Given the description of an element on the screen output the (x, y) to click on. 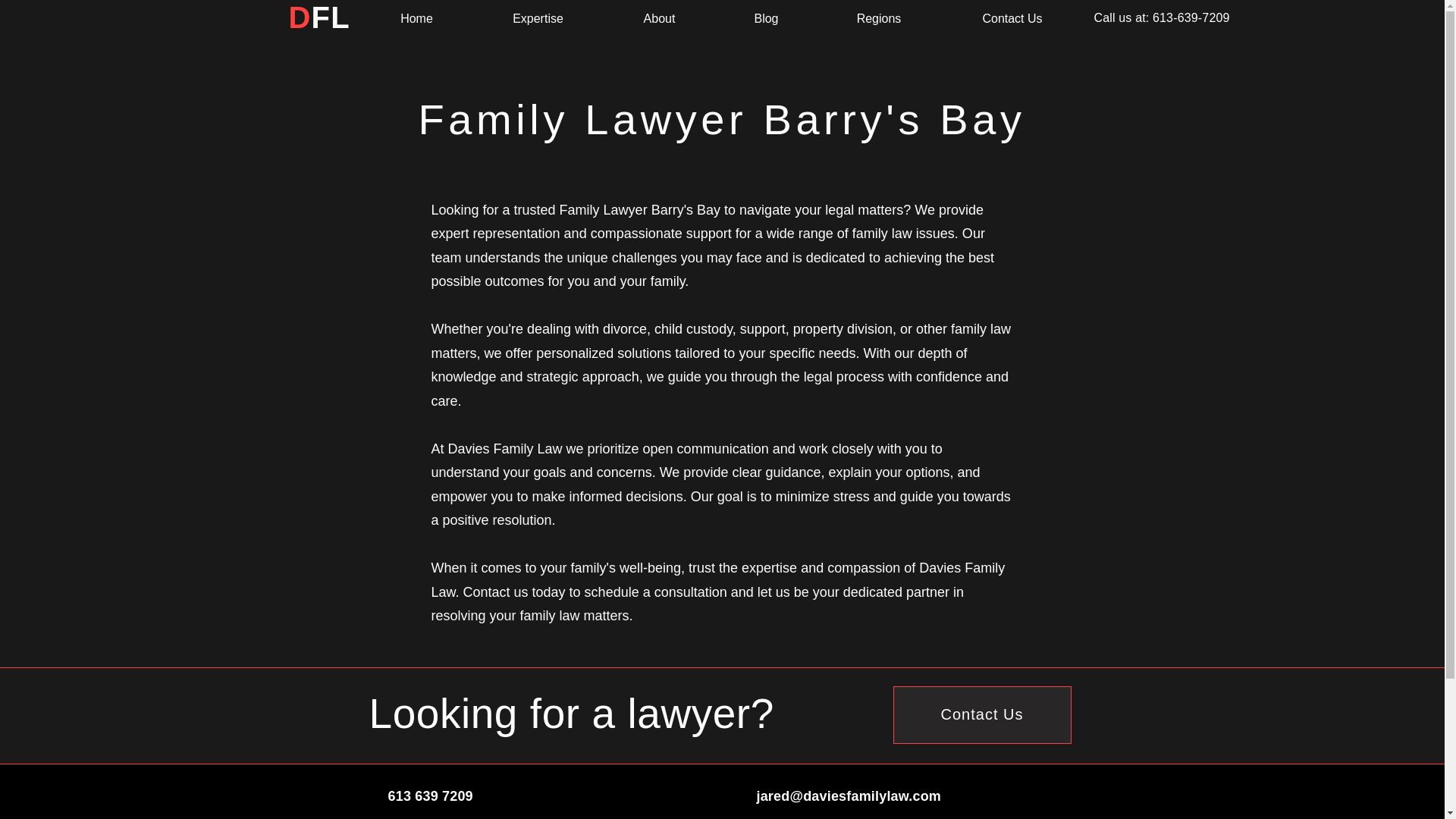
Contact Us (1011, 18)
Home (417, 18)
Expertise (538, 18)
About (660, 18)
613 639 7209 (430, 795)
Call us at: 613-639-7209 (1160, 17)
Contact Us (982, 714)
Regions (878, 18)
Blog (766, 18)
